Given the description of an element on the screen output the (x, y) to click on. 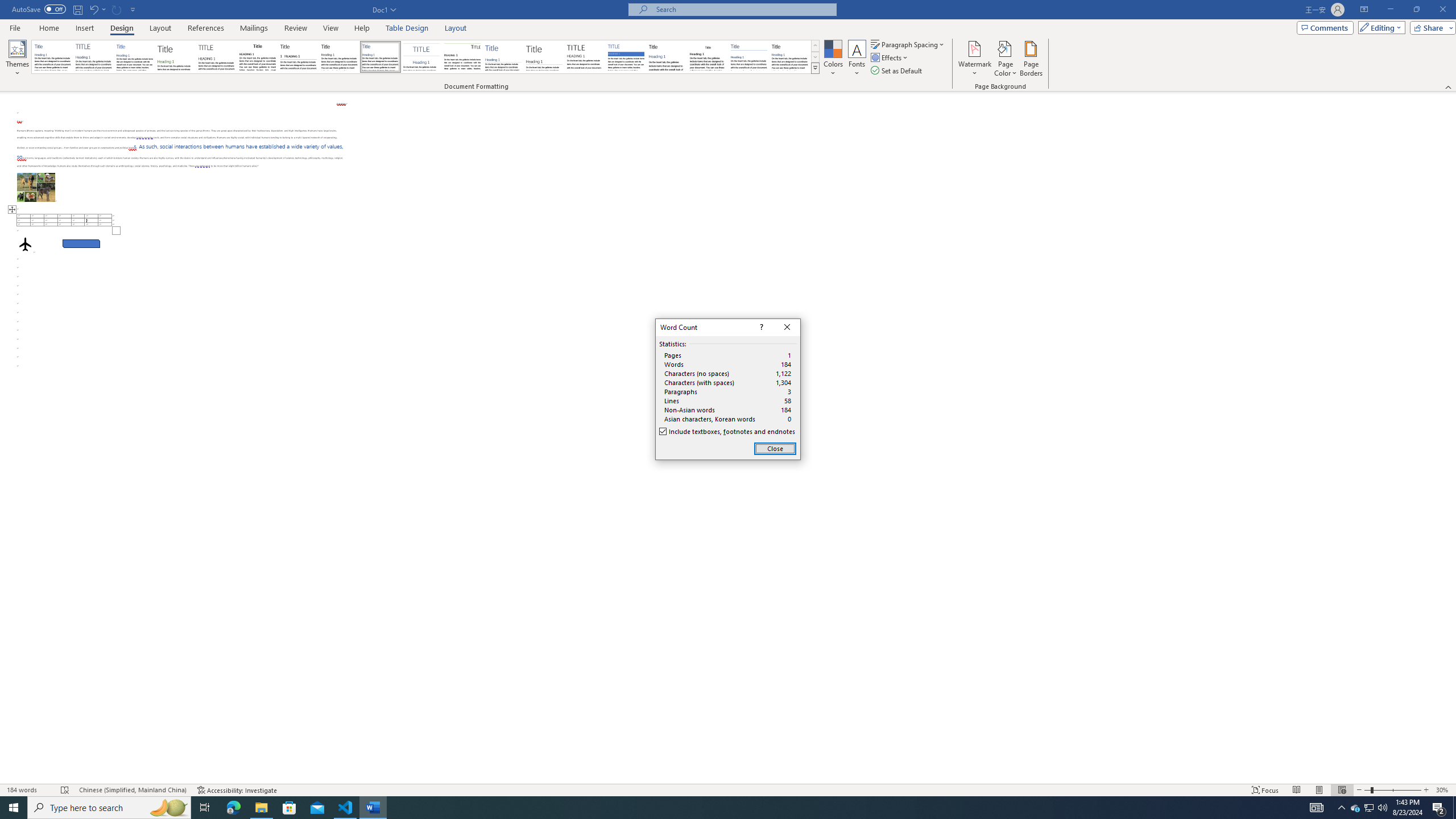
Rectangle: Diagonal Corners Snipped 2 (81, 243)
Fonts (856, 58)
Running applications (717, 807)
Document (52, 56)
Watermark (974, 58)
